Given the description of an element on the screen output the (x, y) to click on. 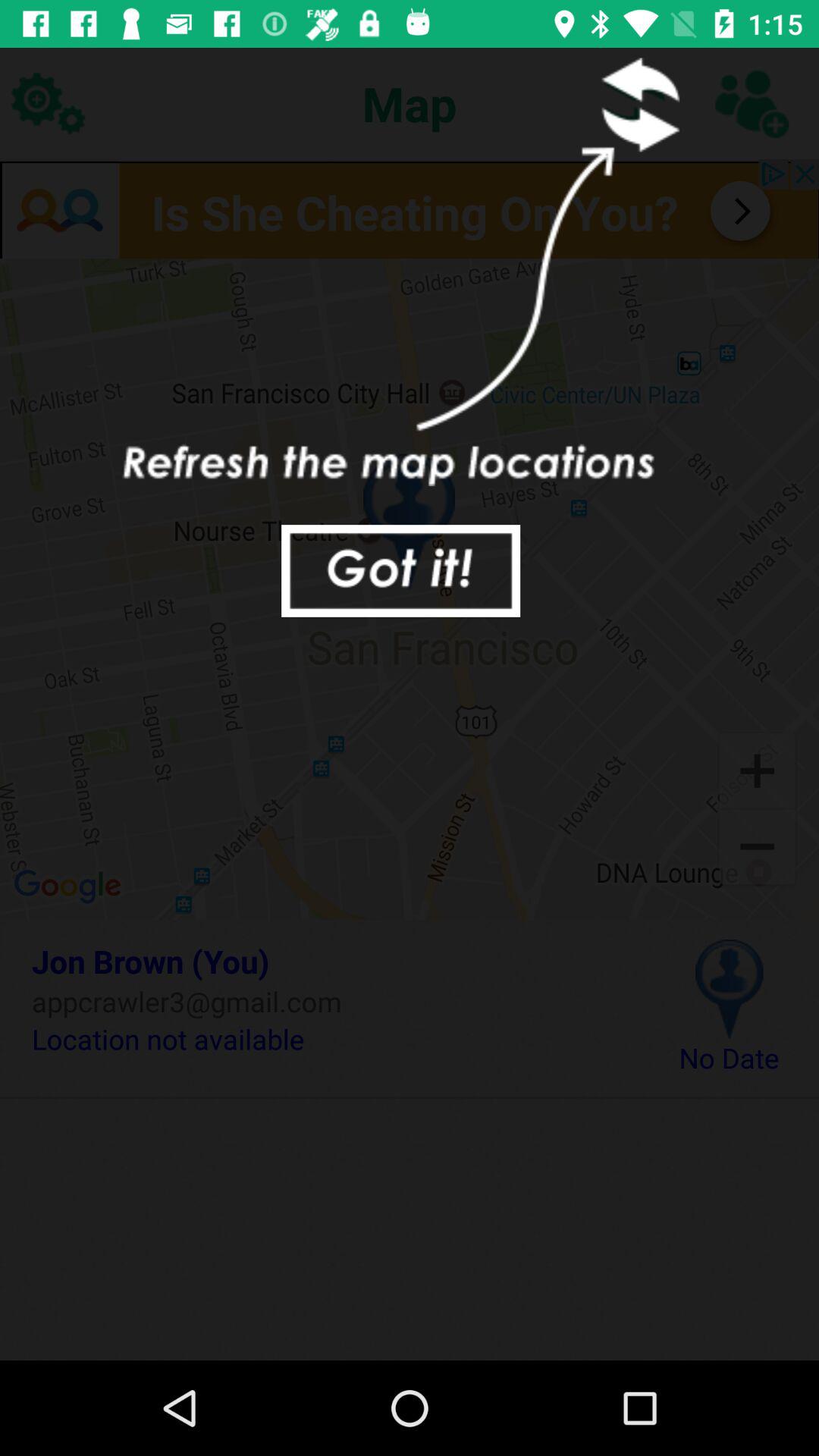
go to settings (47, 103)
